Given the description of an element on the screen output the (x, y) to click on. 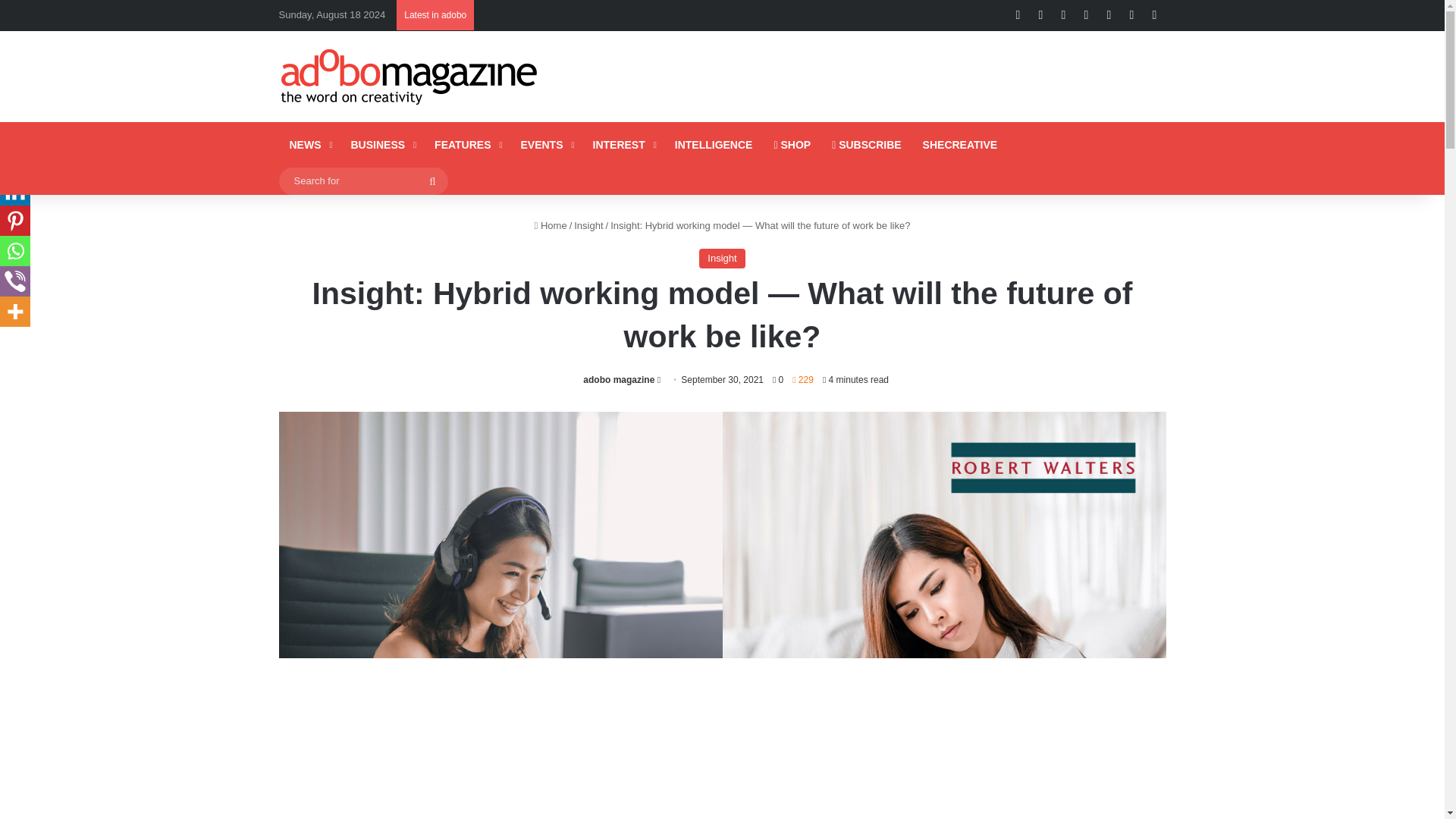
Search for (363, 180)
adobo Magazine Online (409, 76)
INTEREST (622, 144)
FEATURES (466, 144)
EVENTS (544, 144)
NEWS (309, 144)
adobo magazine (618, 379)
BUSINESS (381, 144)
